Given the description of an element on the screen output the (x, y) to click on. 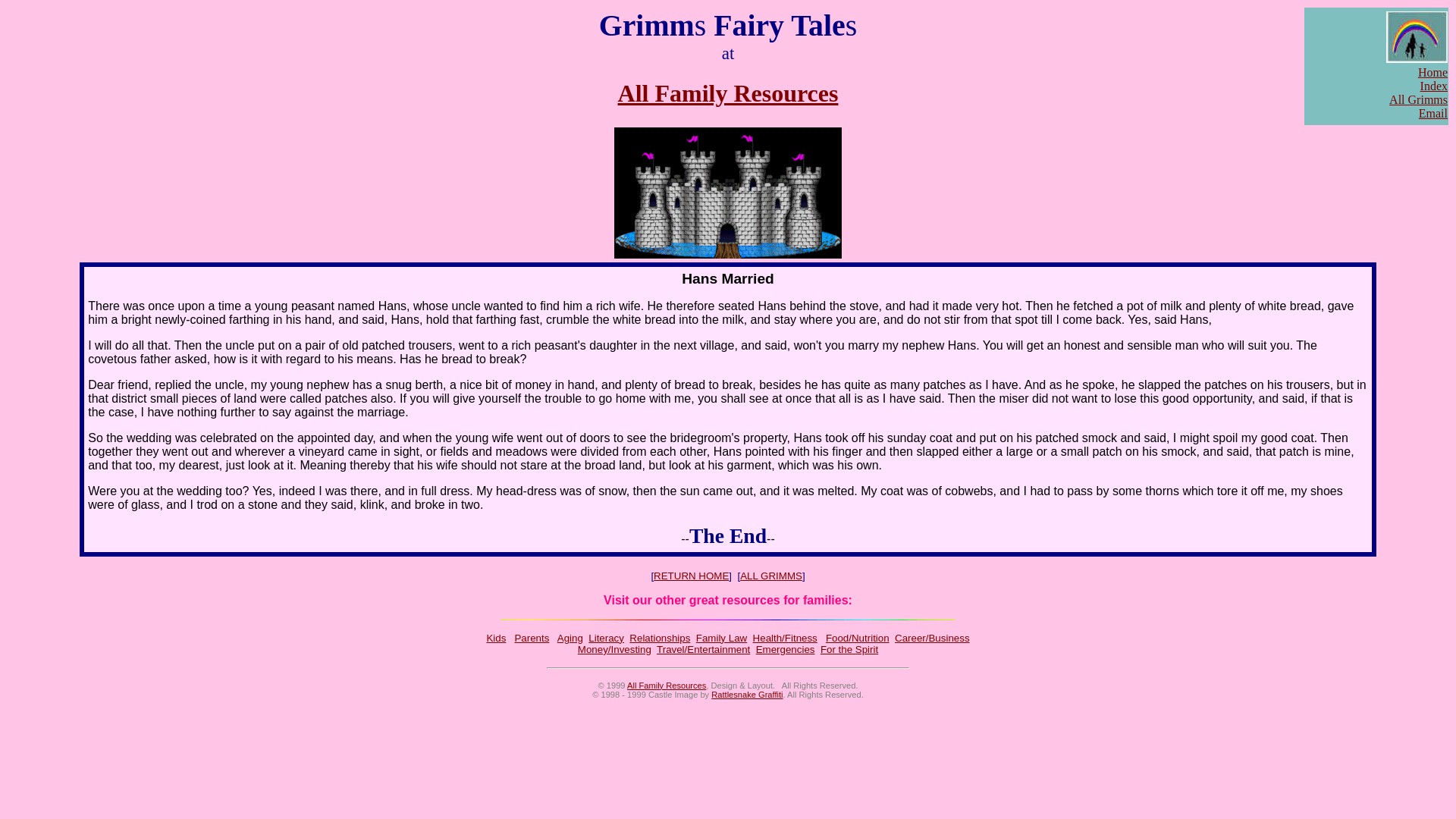
Rattlesnake Graffiti (747, 694)
Family Law (720, 637)
All Grimms (1418, 99)
Aging (570, 637)
RETURN HOME (691, 575)
All Family Resources (666, 685)
All Family Resources (727, 93)
Emergencies (785, 649)
Home (1432, 72)
Email (1432, 113)
Literacy (606, 637)
Index (1434, 85)
Parents (530, 637)
ALL GRIMMS (770, 575)
Kids (495, 637)
